Given the description of an element on the screen output the (x, y) to click on. 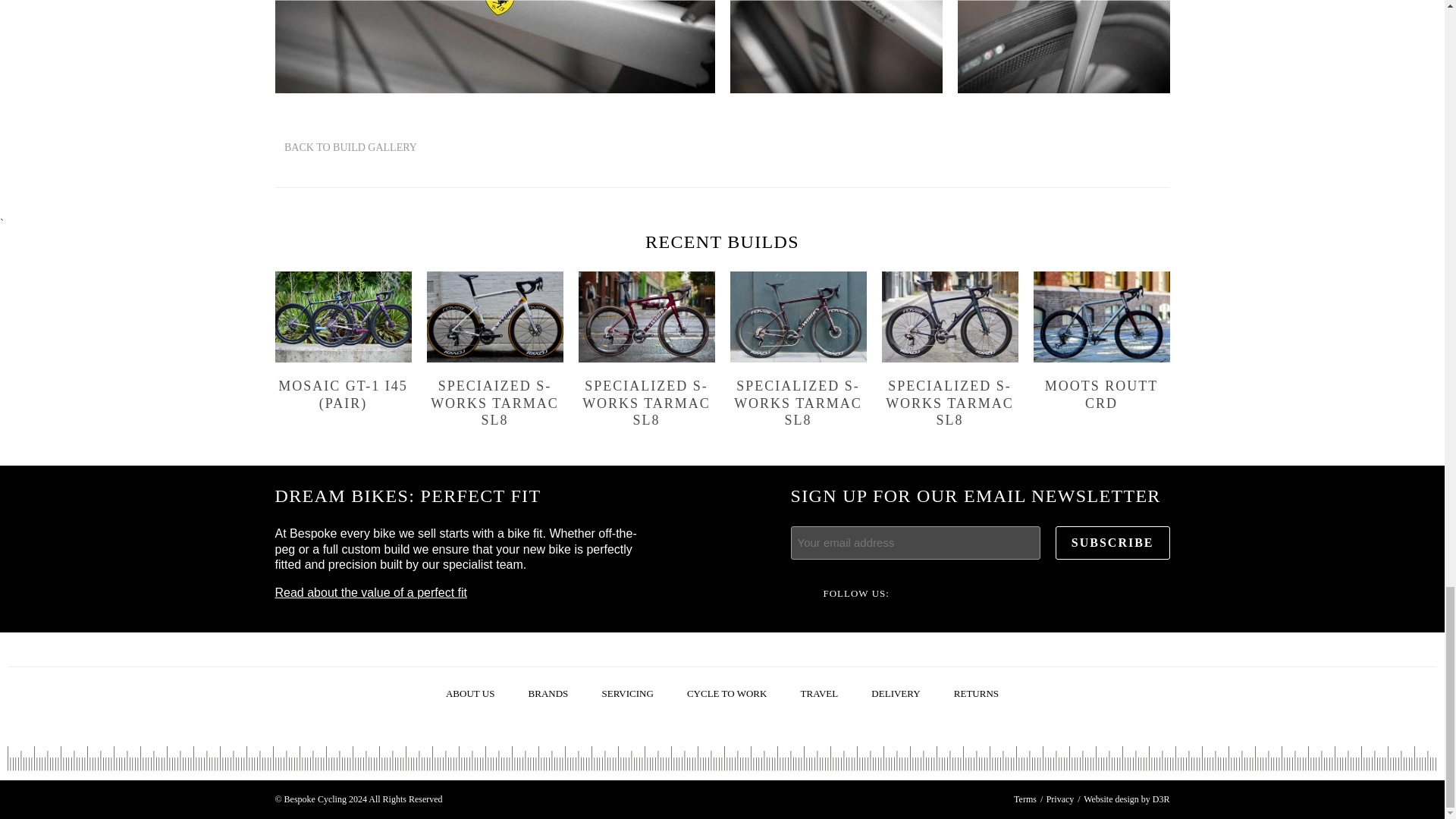
MOOTS ROUTT CRD (1100, 341)
twitter (986, 593)
facebook (929, 593)
BACK TO BUILD GALLERY (345, 147)
SUBSCRIBE (1112, 542)
strava (1099, 593)
instagram (1042, 593)
Read about the value of a perfect fit (371, 592)
Scroll back to top (26, 718)
Bespoke Cycling (1408, 734)
